Given the description of an element on the screen output the (x, y) to click on. 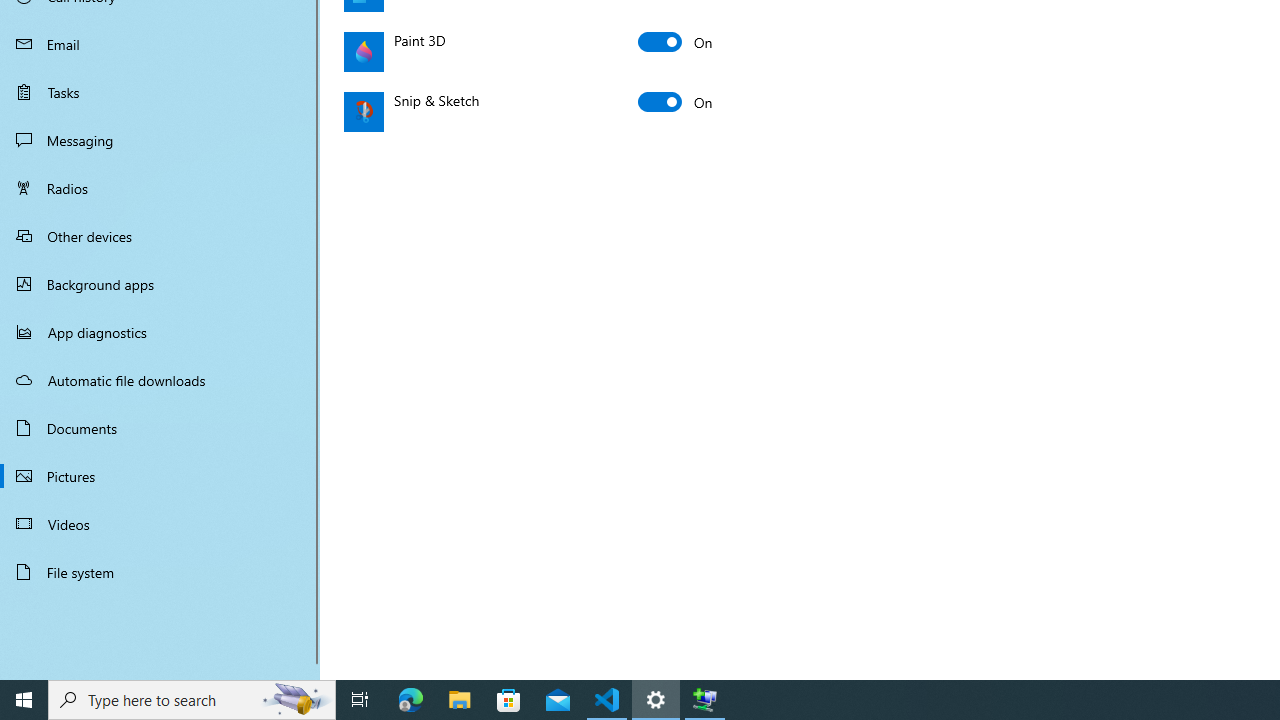
Other devices (160, 235)
Radios (160, 187)
Pictures (160, 475)
Tasks (160, 91)
Videos (160, 523)
